Given the description of an element on the screen output the (x, y) to click on. 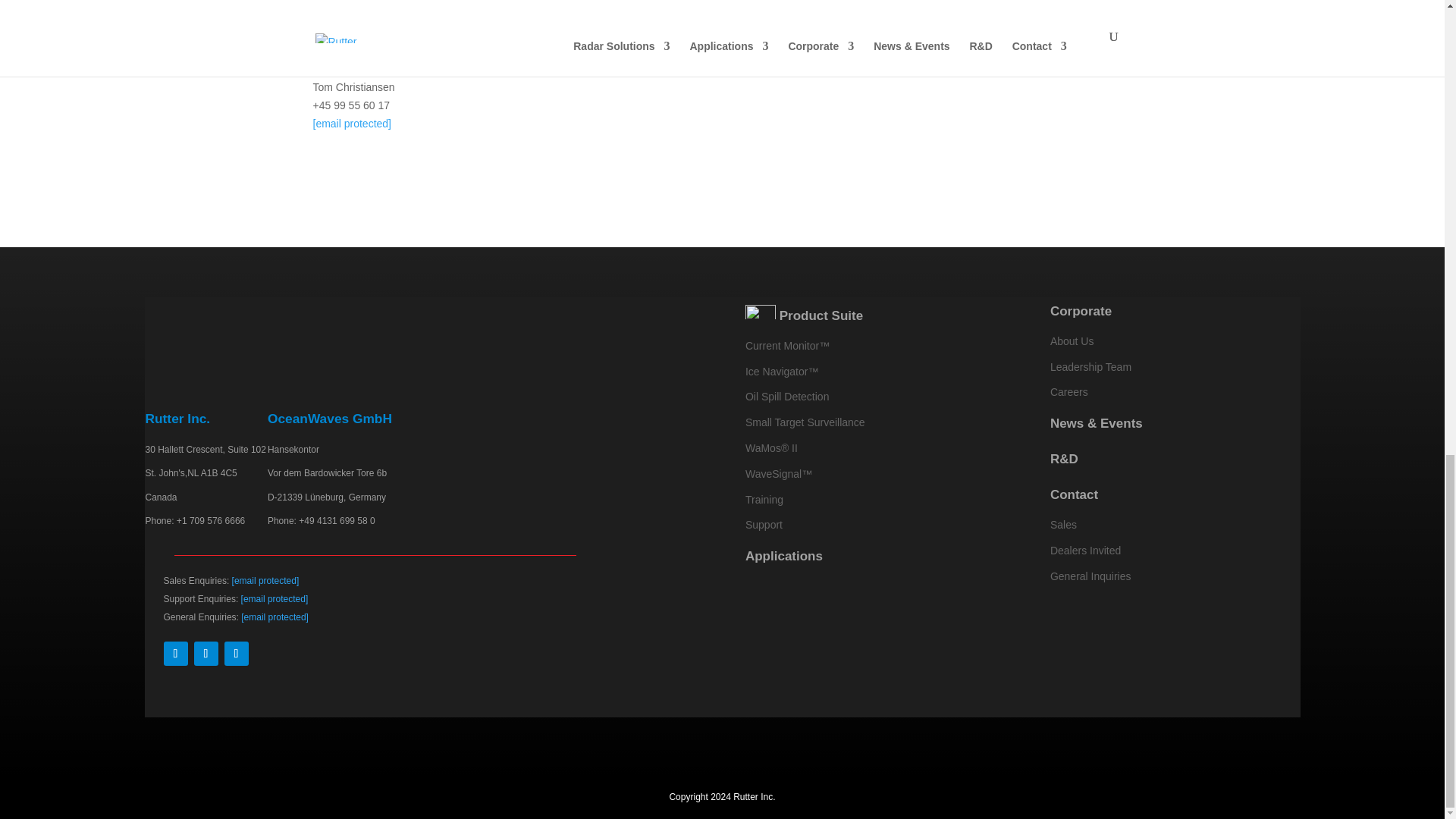
Follow on X (236, 653)
Follow on Facebook (175, 653)
Follow on LinkedIn (205, 653)
